Given the description of an element on the screen output the (x, y) to click on. 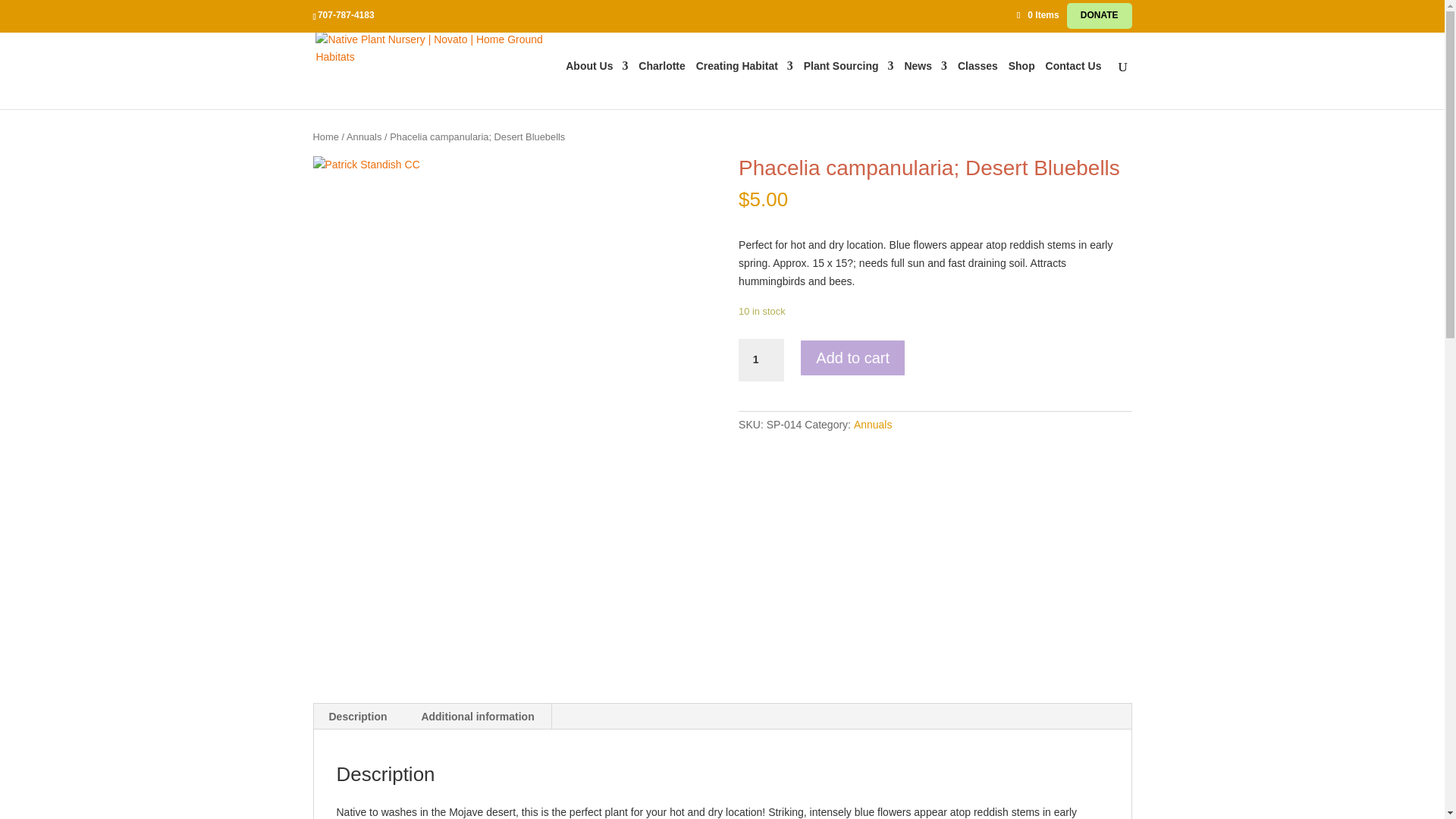
DONATE (1099, 18)
1 (761, 360)
Plant Sourcing (848, 84)
Charlotte (661, 84)
0 Items (1042, 14)
About Us (596, 84)
707-787-4183 (345, 14)
Creating Habitat (744, 84)
